Given the description of an element on the screen output the (x, y) to click on. 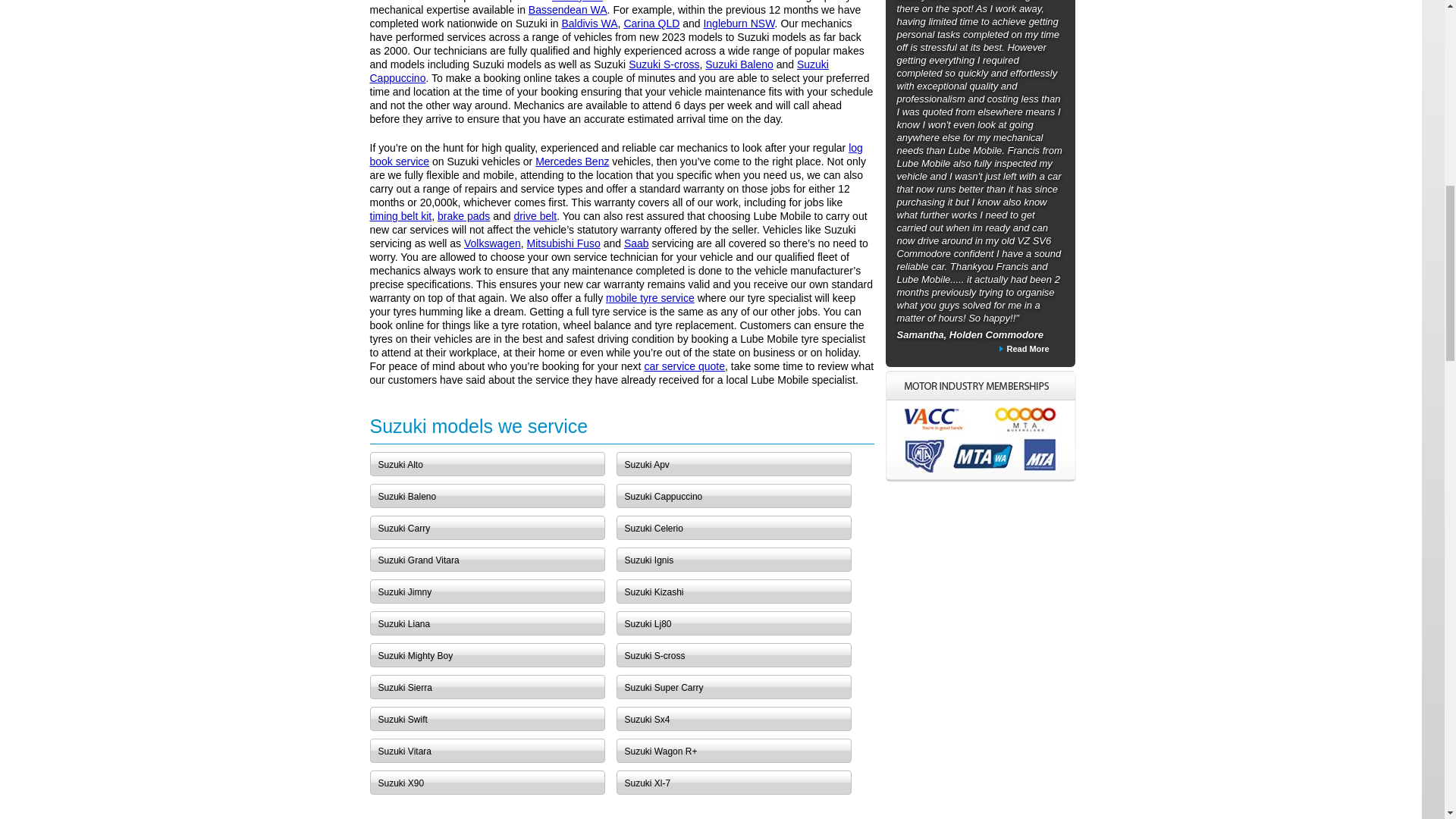
Suzuki Cappuccino (598, 71)
Carina QLD (651, 23)
Ingleburn NSW (738, 23)
Baldivis WA (588, 23)
Bassendean WA (567, 9)
Suzuki S-cross (663, 64)
Suzuki Baleno (738, 64)
Aveley WA (576, 1)
